Given the description of an element on the screen output the (x, y) to click on. 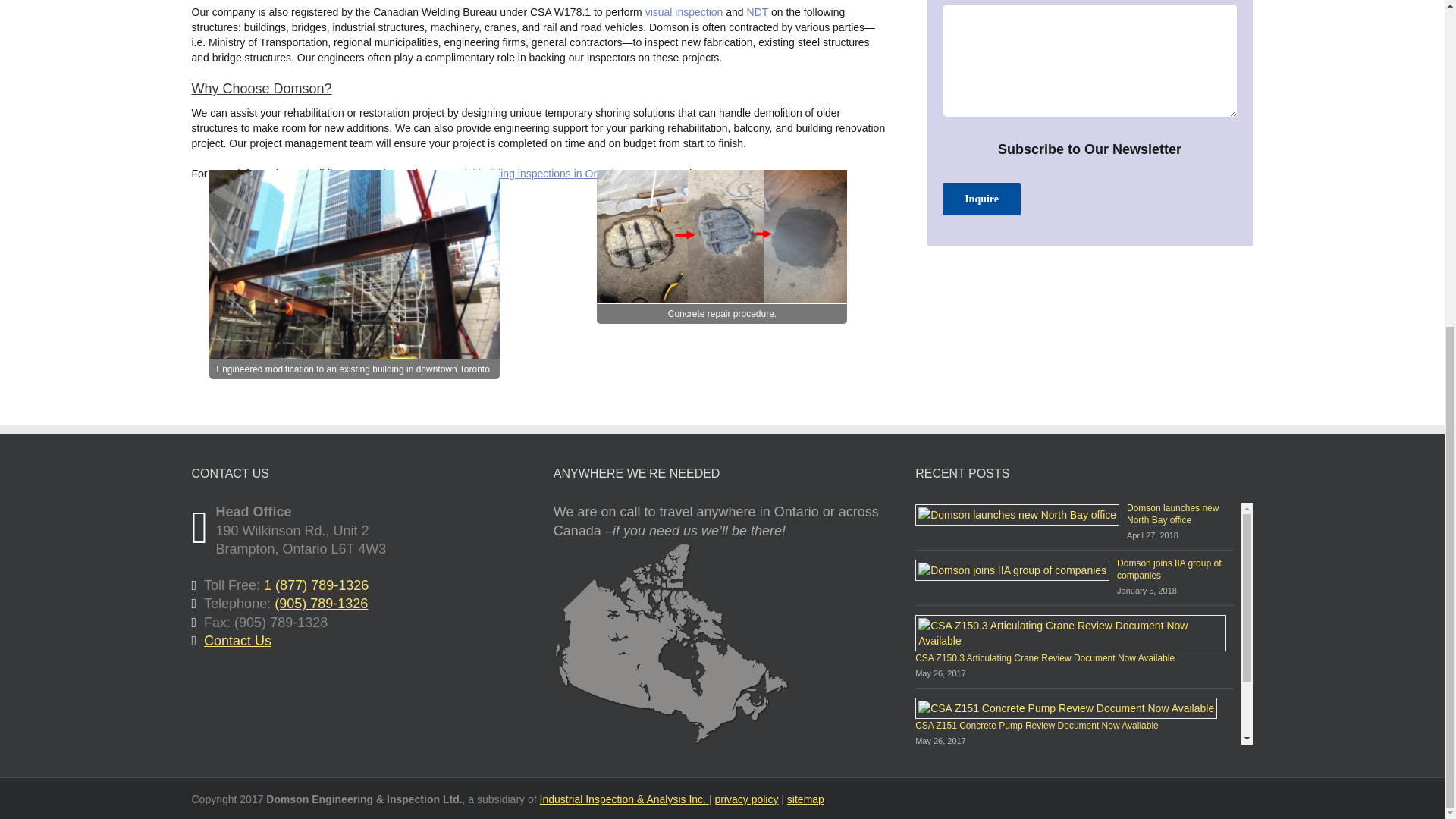
Inquire (981, 198)
Inspection (757, 11)
Visual Inspection (684, 11)
Permalink to Construction Regulations Webinar (1153, 774)
Permalink to Domson launches new North Bay office (1172, 513)
Permalink to Domson joins IIA group of companies (1168, 568)
